Given the description of an element on the screen output the (x, y) to click on. 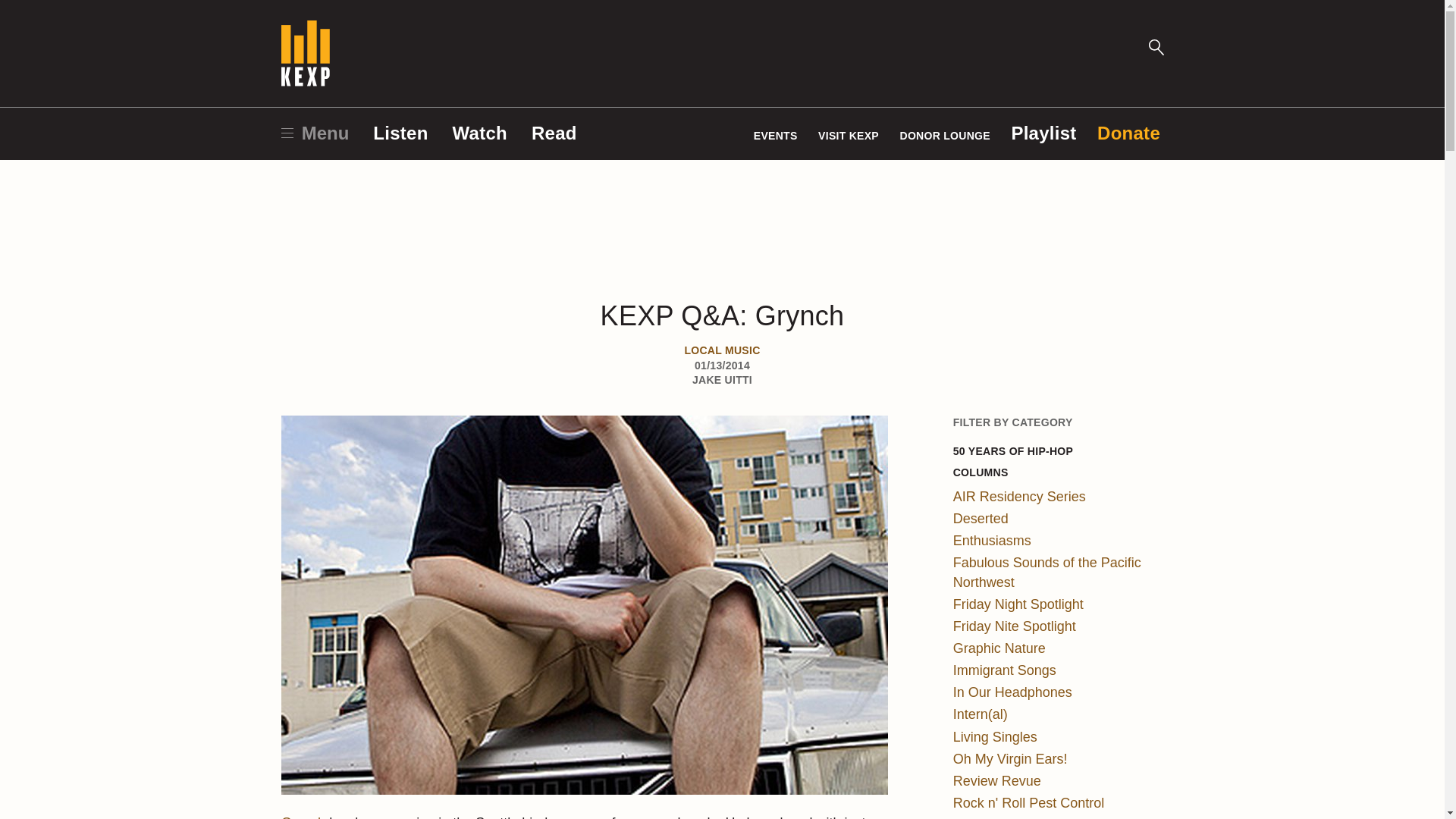
Grynch (302, 816)
VISIT KEXP (848, 135)
LOCAL MUSIC (722, 349)
Menu (315, 132)
Watch (479, 132)
Donate (1128, 132)
Listen (400, 132)
Playlist (1042, 132)
Read (553, 132)
DONOR LOUNGE (944, 135)
EVENTS (775, 135)
